Given the description of an element on the screen output the (x, y) to click on. 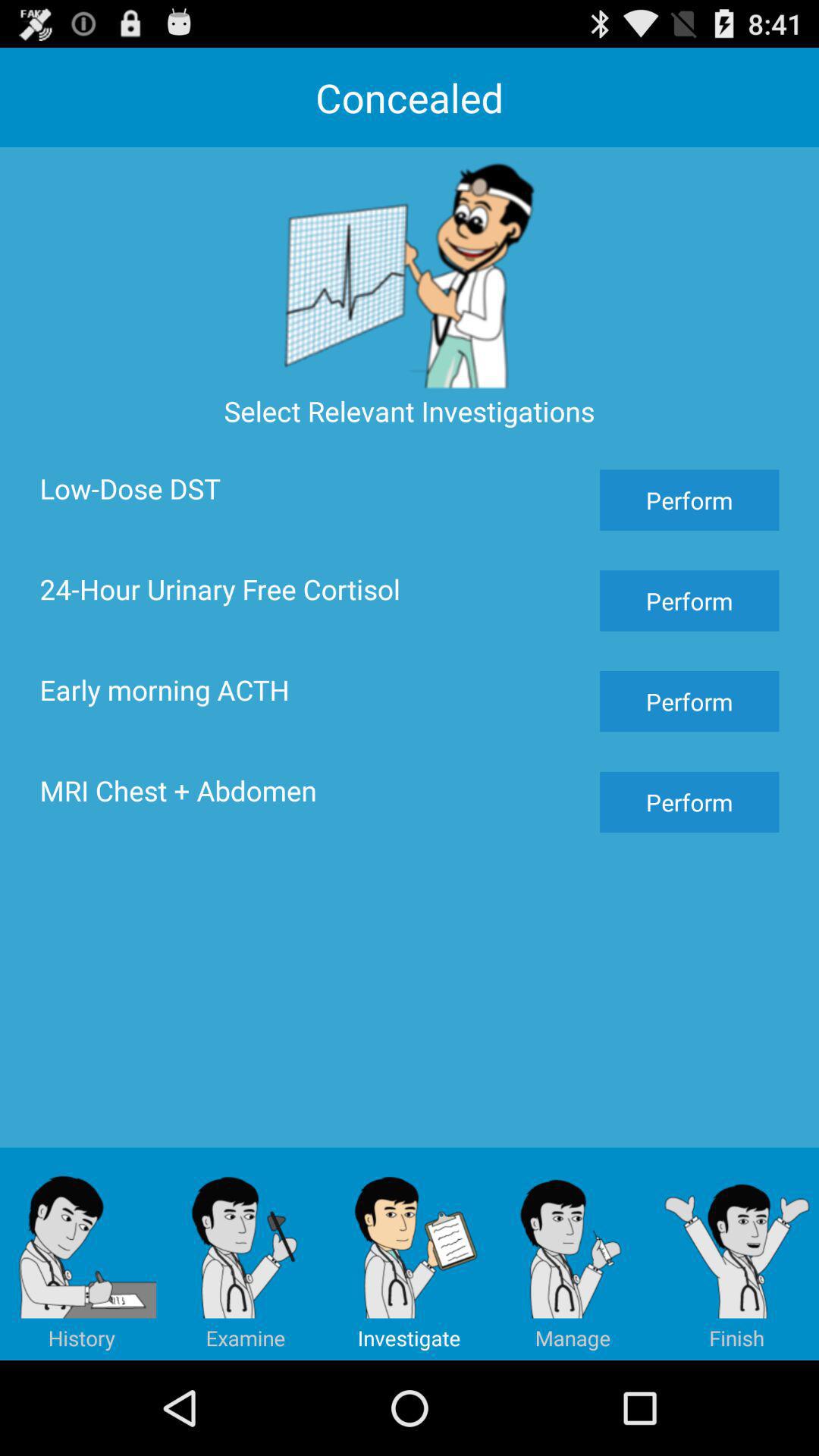
turn off item below the mri chest + abdomen icon (81, 1253)
